Given the description of an element on the screen output the (x, y) to click on. 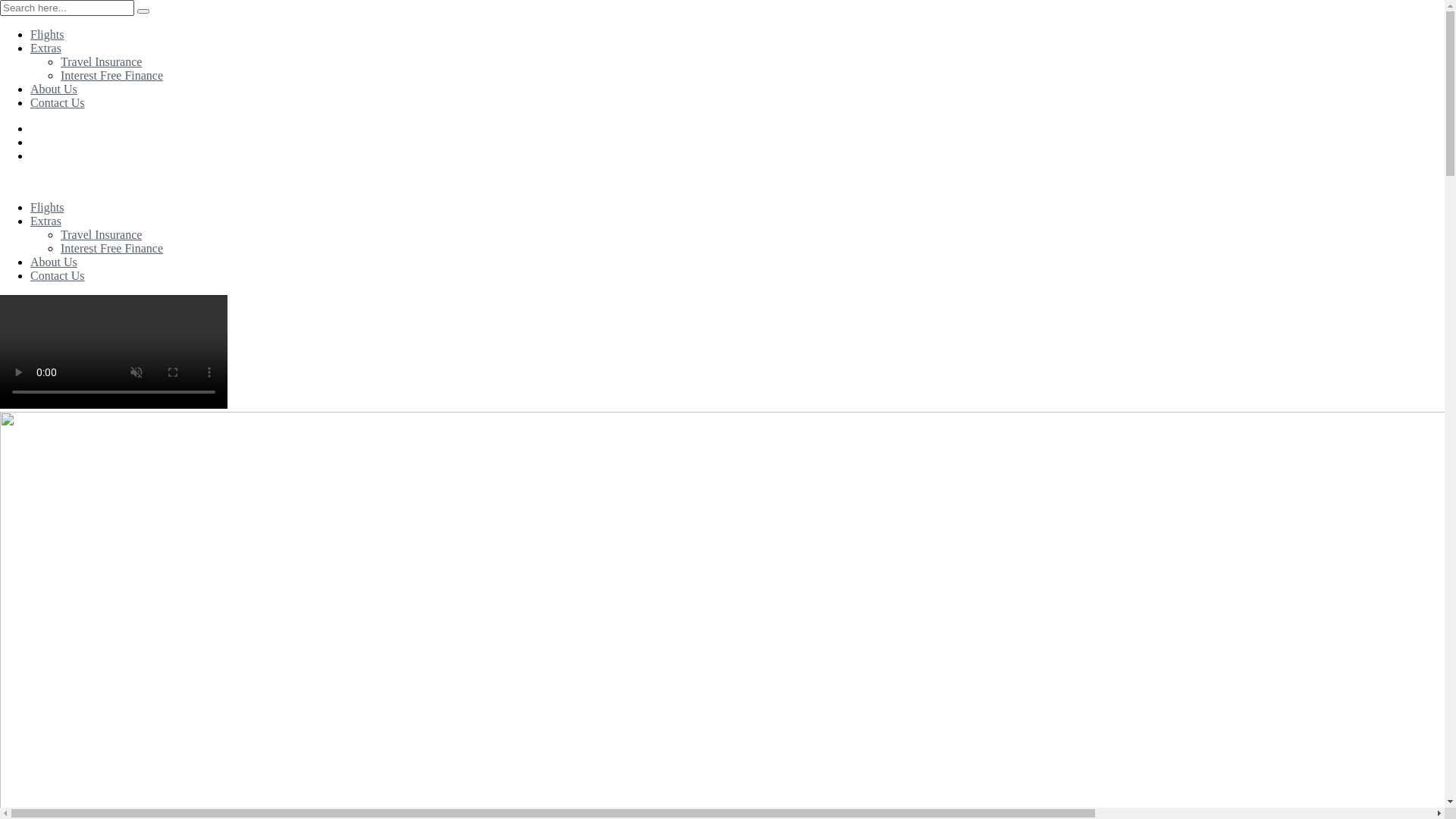
Contact Us Element type: text (57, 275)
Extras Element type: text (45, 47)
Contact Us Element type: text (57, 102)
Travel Insurance Element type: text (100, 234)
Interest Free Finance Element type: text (111, 75)
About Us Element type: text (53, 261)
Extras Element type: text (45, 220)
Flights Element type: text (46, 34)
Interest Free Finance Element type: text (111, 247)
About Us Element type: text (53, 88)
Flights Element type: text (46, 206)
Travel Insurance Element type: text (100, 61)
